Given the description of an element on the screen output the (x, y) to click on. 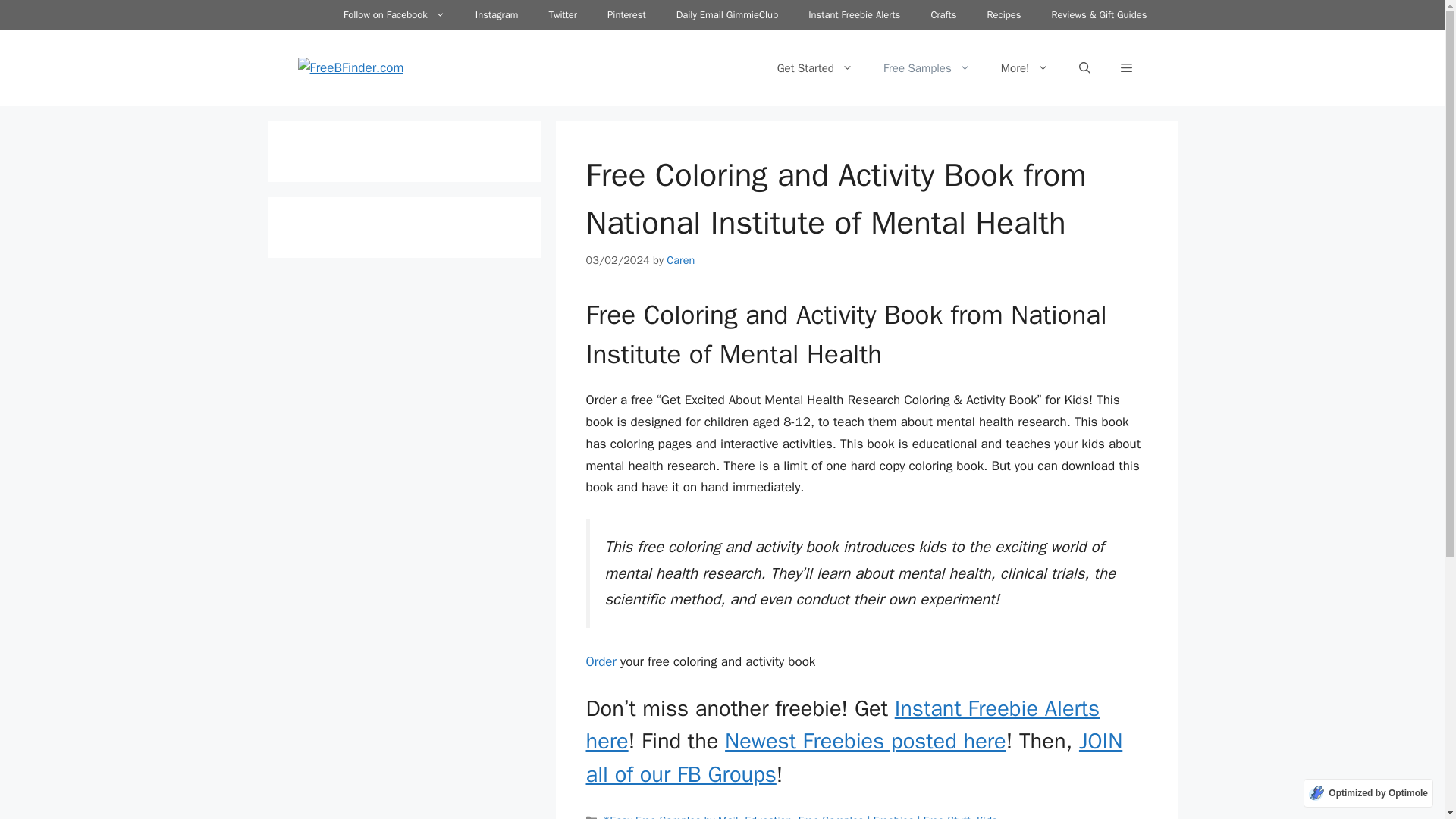
Daily Email GimmieClub (727, 15)
Follow on Facebook (394, 15)
Get Started (814, 67)
Pinterest (626, 15)
Instant Freebie Alerts (854, 15)
View all posts by Caren (680, 259)
Order (600, 661)
Instant Freebie Alerts here (842, 724)
Crafts (943, 15)
Free Samples (926, 67)
Instagram (497, 15)
Caren (680, 259)
Twitter (562, 15)
Recipes (1003, 15)
More! (1024, 67)
